Given the description of an element on the screen output the (x, y) to click on. 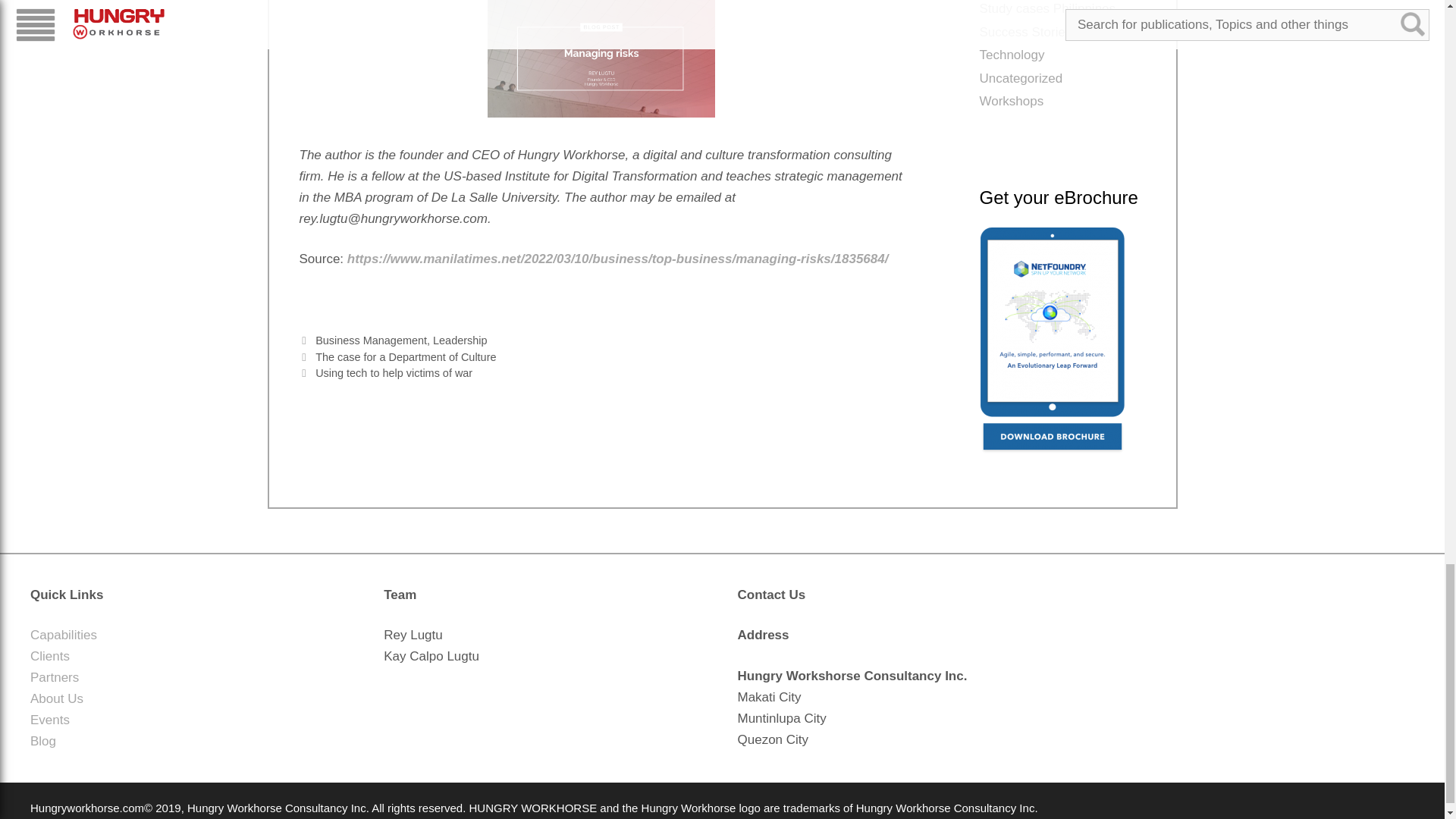
Leadership (459, 340)
The case for a Department of Culture (405, 357)
Using tech to help victims of war (393, 372)
Business Management (370, 340)
